Given the description of an element on the screen output the (x, y) to click on. 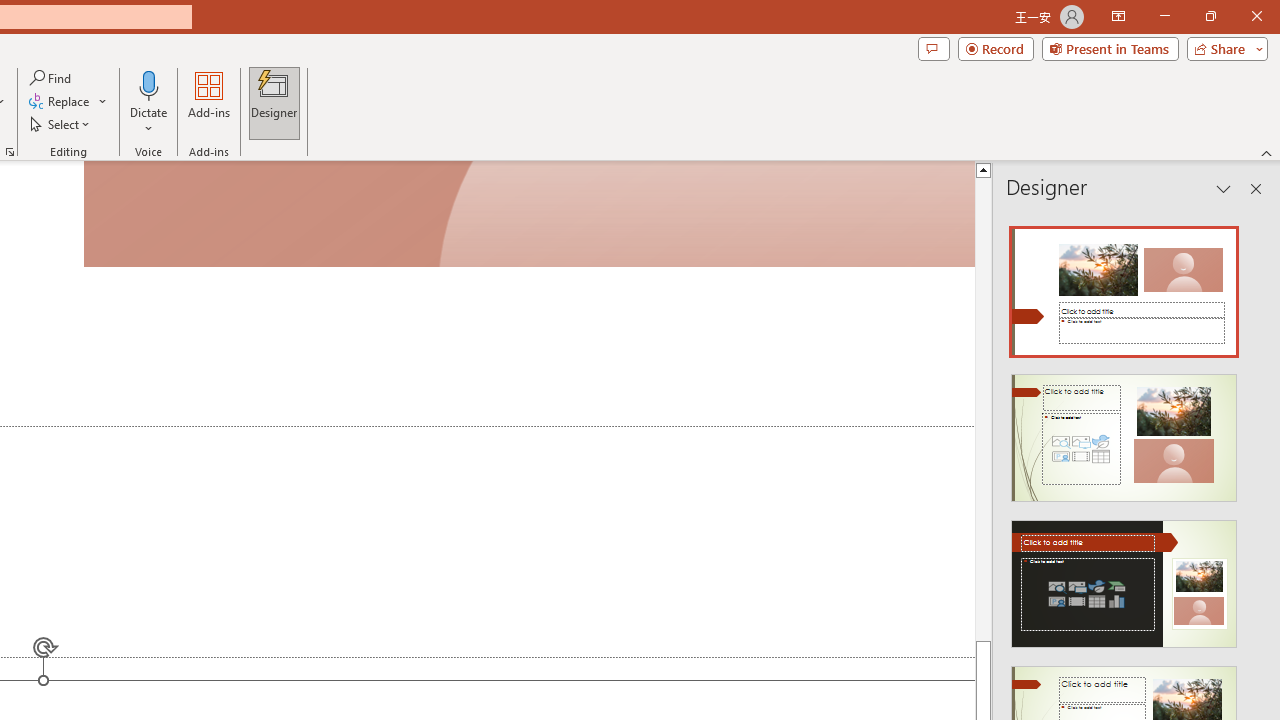
Page up (983, 408)
Camera 7, No camera detected. (529, 215)
Present in Teams (1109, 48)
Class: NetUIImage (1124, 584)
Comments (933, 48)
Dictate (149, 102)
Ribbon Display Options (1118, 16)
Select (61, 124)
Line up (983, 169)
Dictate (149, 84)
Close pane (1256, 188)
Task Pane Options (1224, 188)
Designer (274, 102)
